Given the description of an element on the screen output the (x, y) to click on. 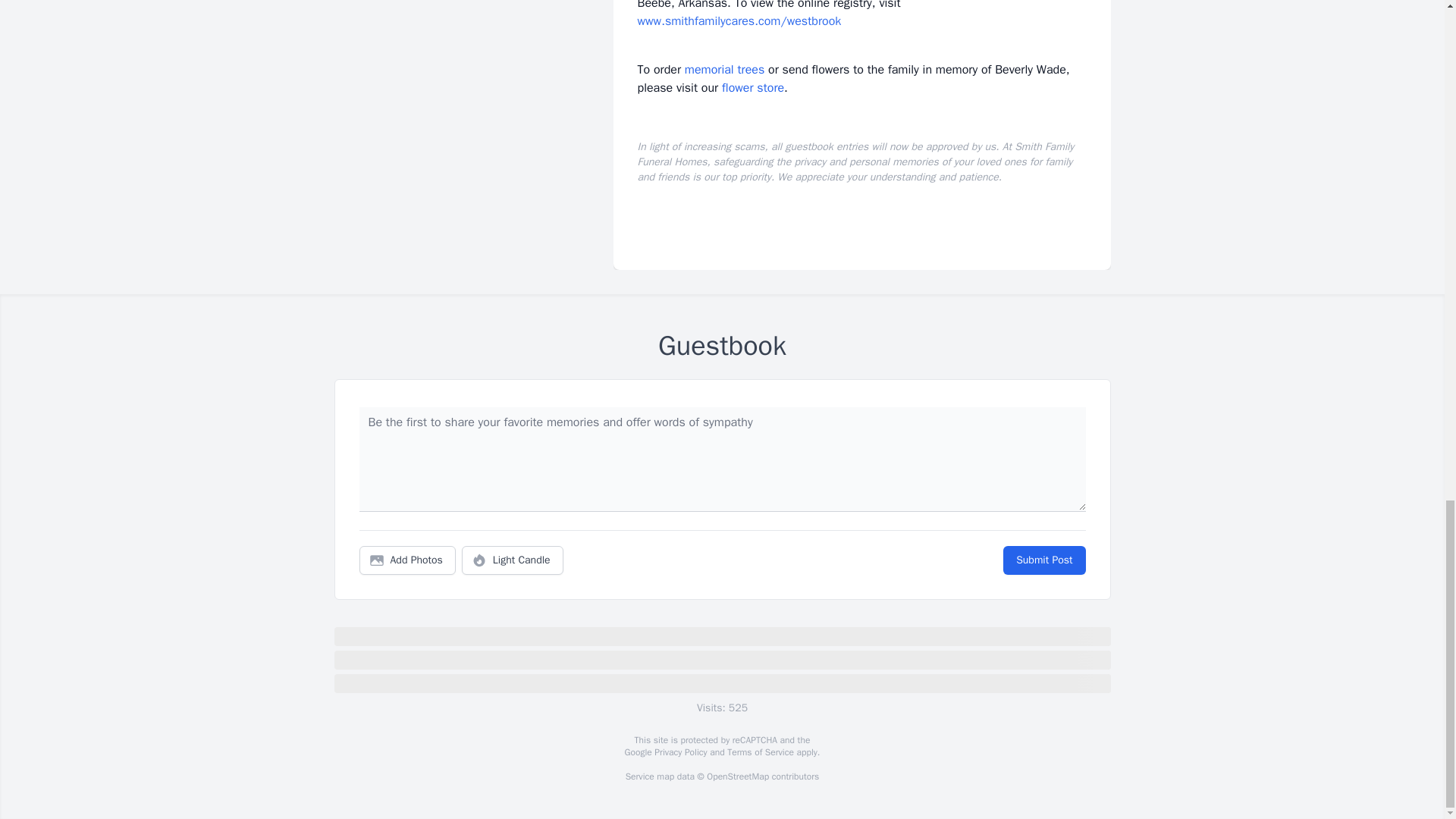
Light Candle (512, 560)
Privacy Policy (679, 752)
OpenStreetMap (737, 776)
Submit Post (1043, 560)
memorial trees (724, 69)
flower store (753, 87)
Terms of Service (759, 752)
Add Photos (407, 560)
